Given the description of an element on the screen output the (x, y) to click on. 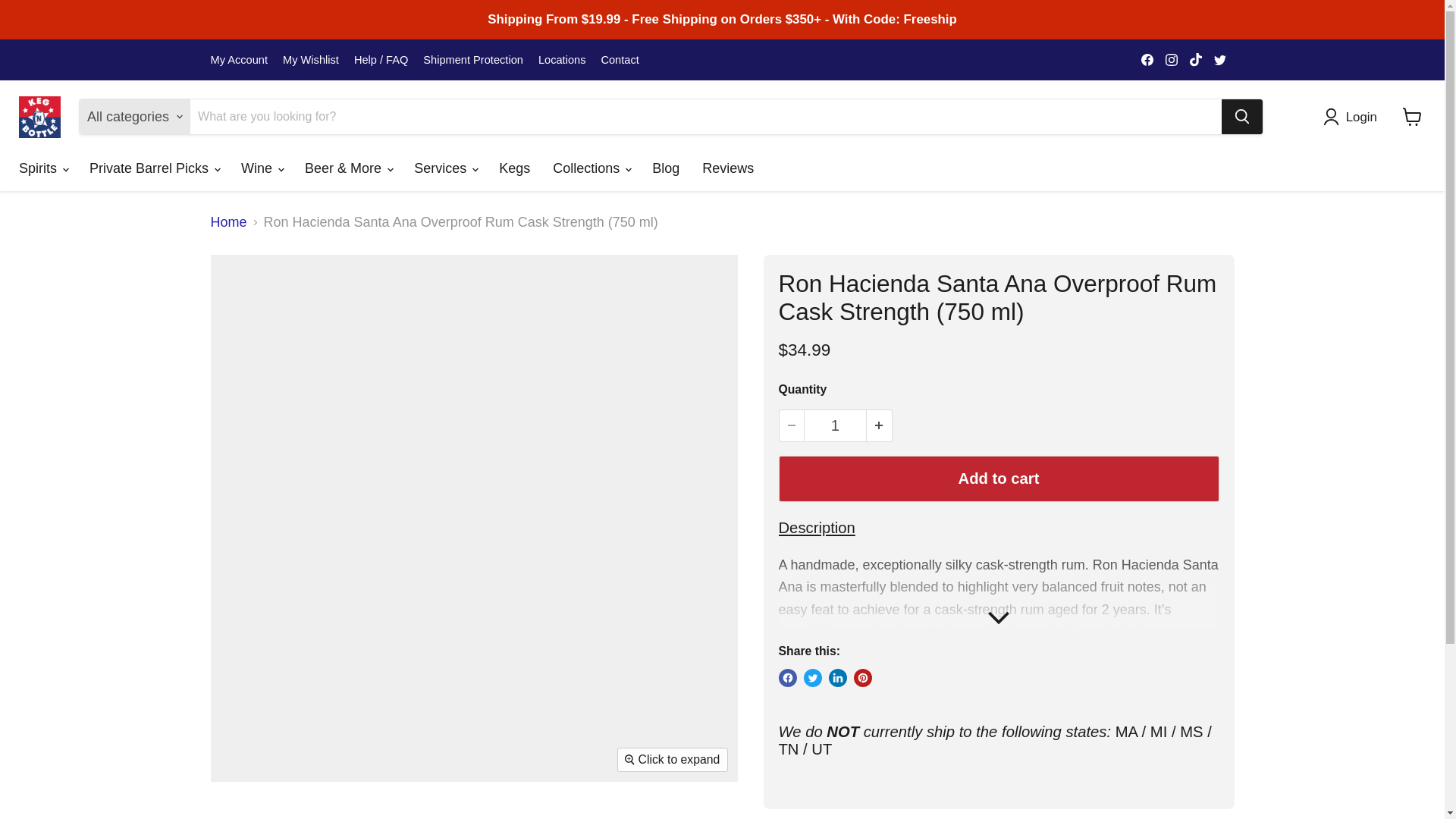
Find us on Instagram (1171, 59)
TikTok (1196, 59)
View cart (1411, 116)
Contact (619, 60)
Shipment Protection (472, 60)
Find us on TikTok (1196, 59)
Locations (562, 60)
Facebook (1147, 59)
Login (1353, 116)
1 (834, 425)
